Given the description of an element on the screen output the (x, y) to click on. 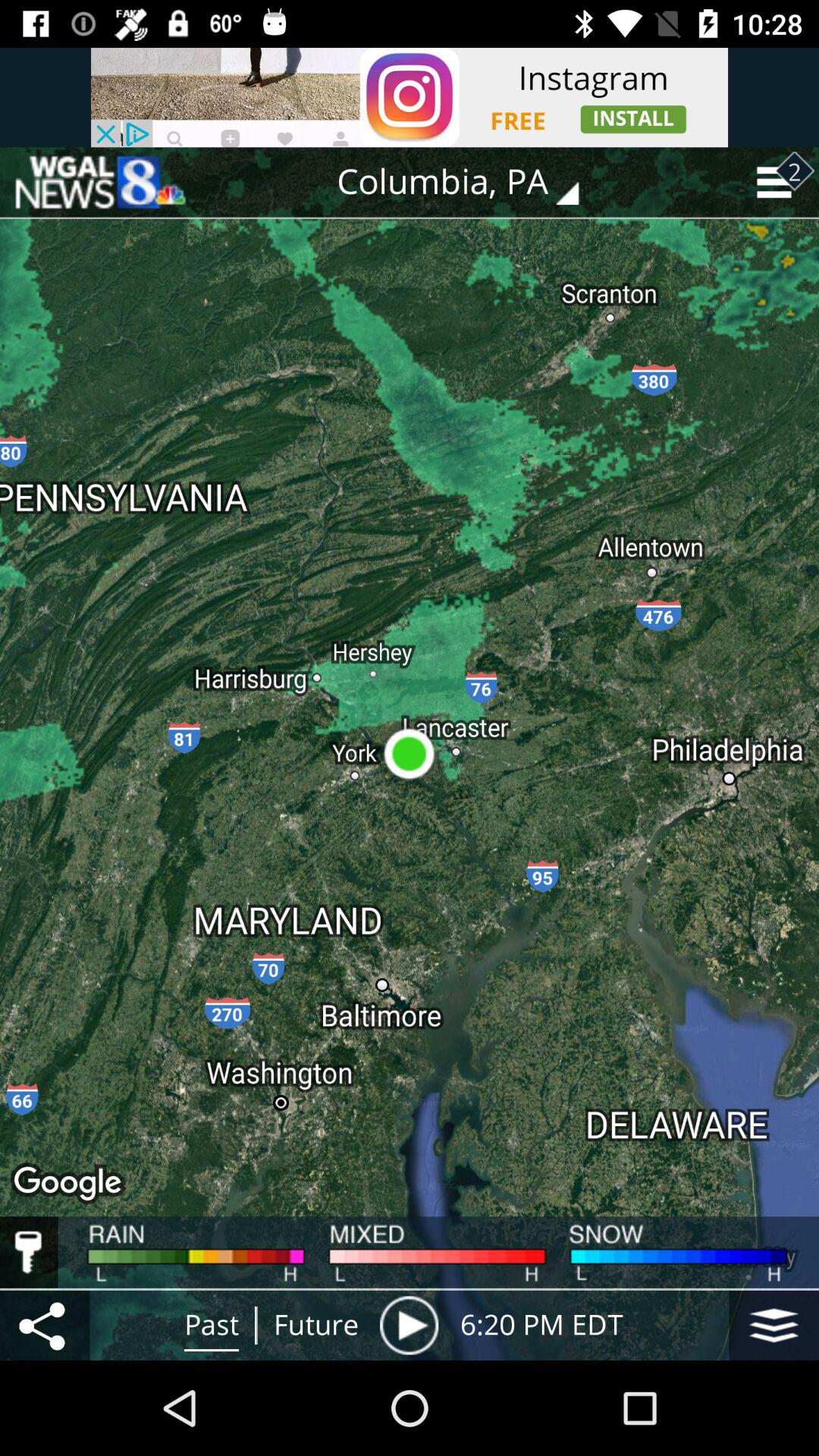
back to home page (99, 182)
